Given the description of an element on the screen output the (x, y) to click on. 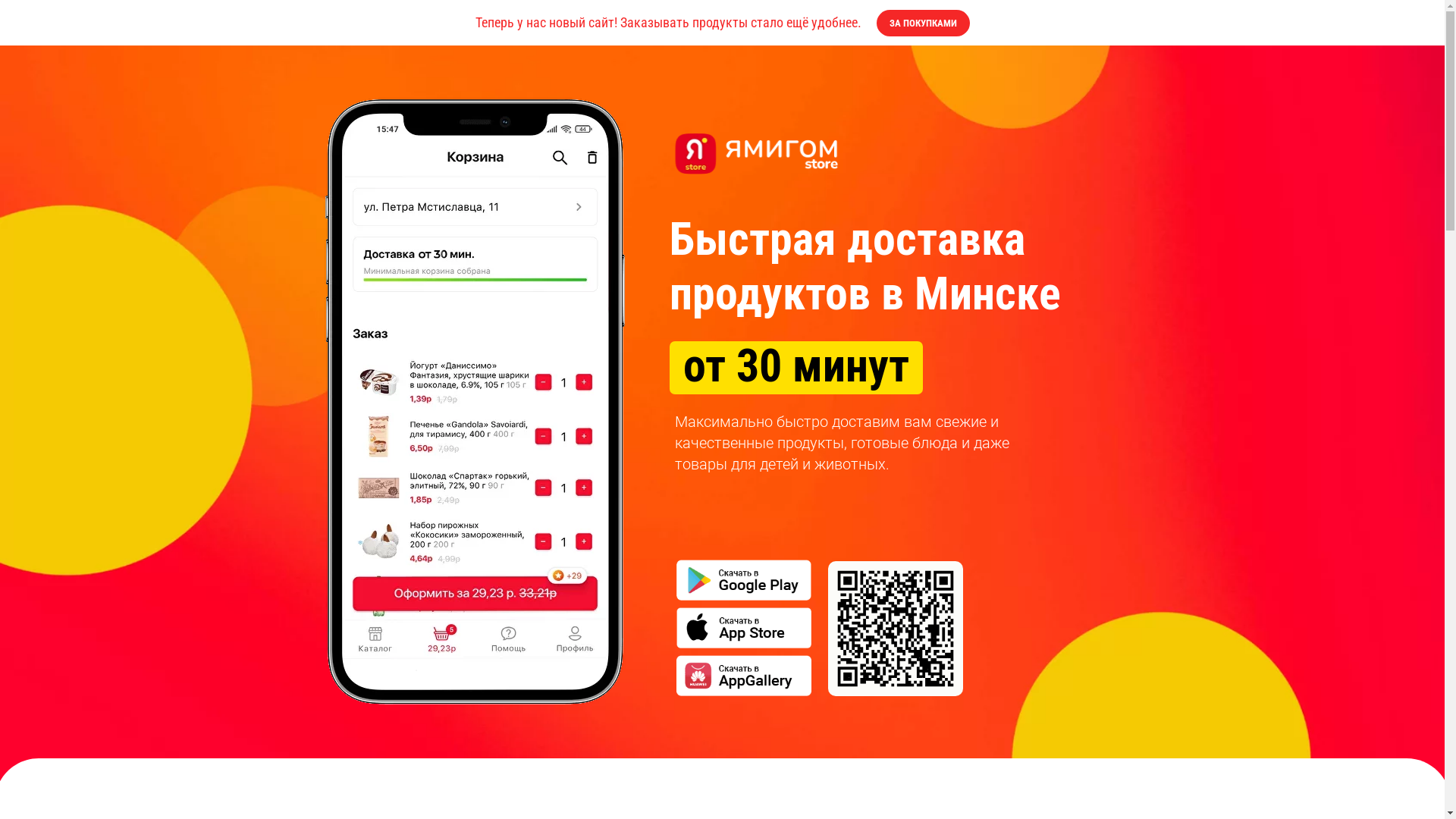
Close Element type: text (1420, 22)
